Given the description of an element on the screen output the (x, y) to click on. 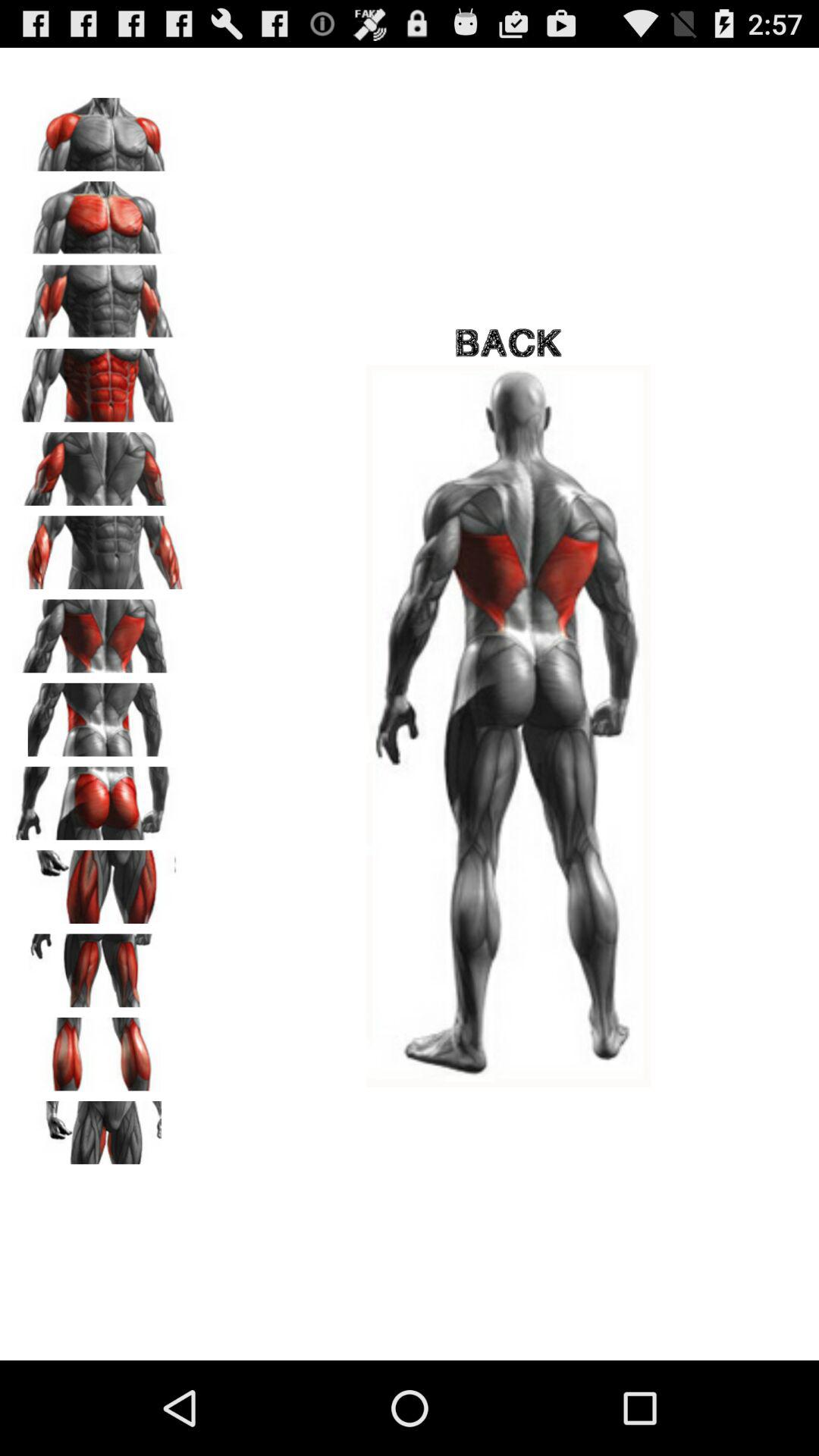
view image (99, 714)
